Given the description of an element on the screen output the (x, y) to click on. 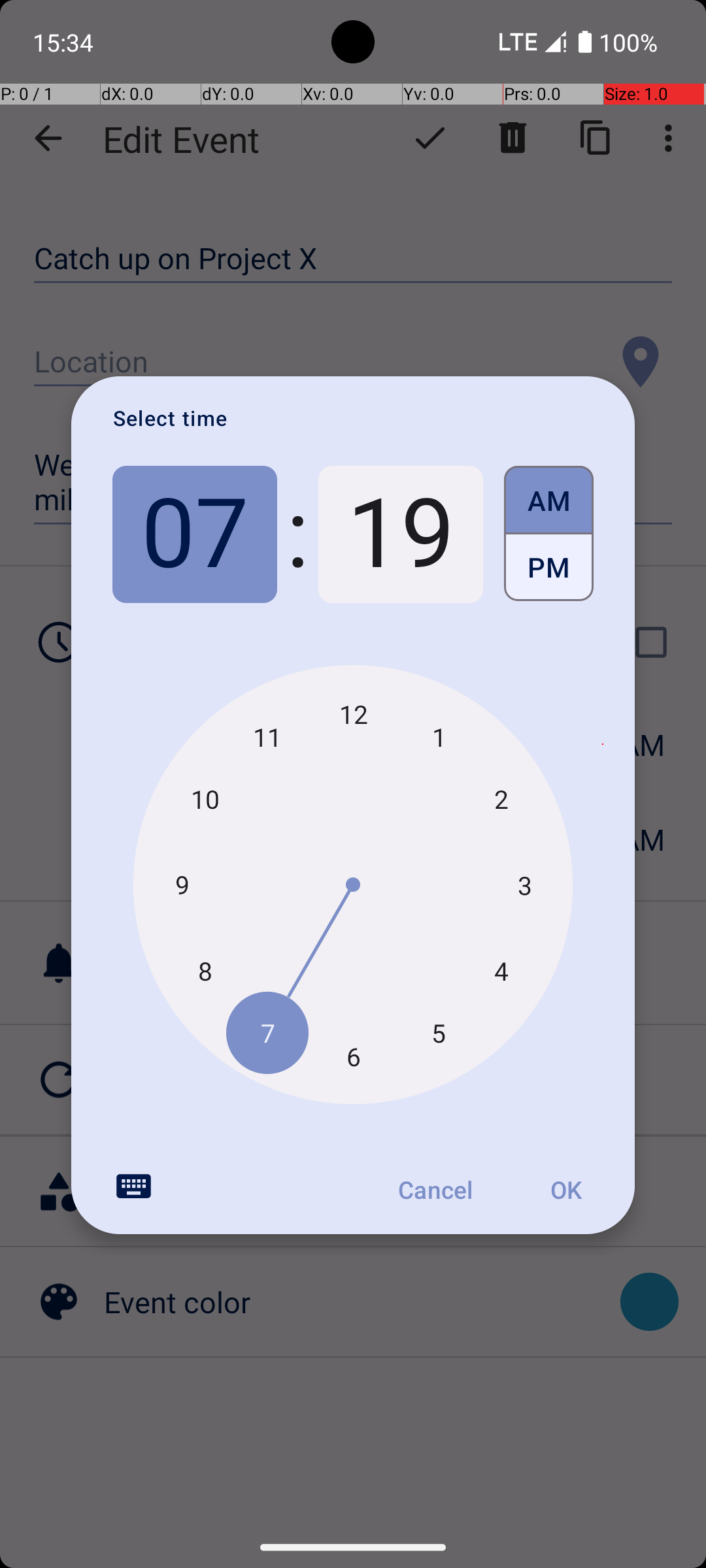
07 Element type: android.view.View (194, 534)
Select AM or PM Element type: android.widget.LinearLayout (548, 534)
